Given the description of an element on the screen output the (x, y) to click on. 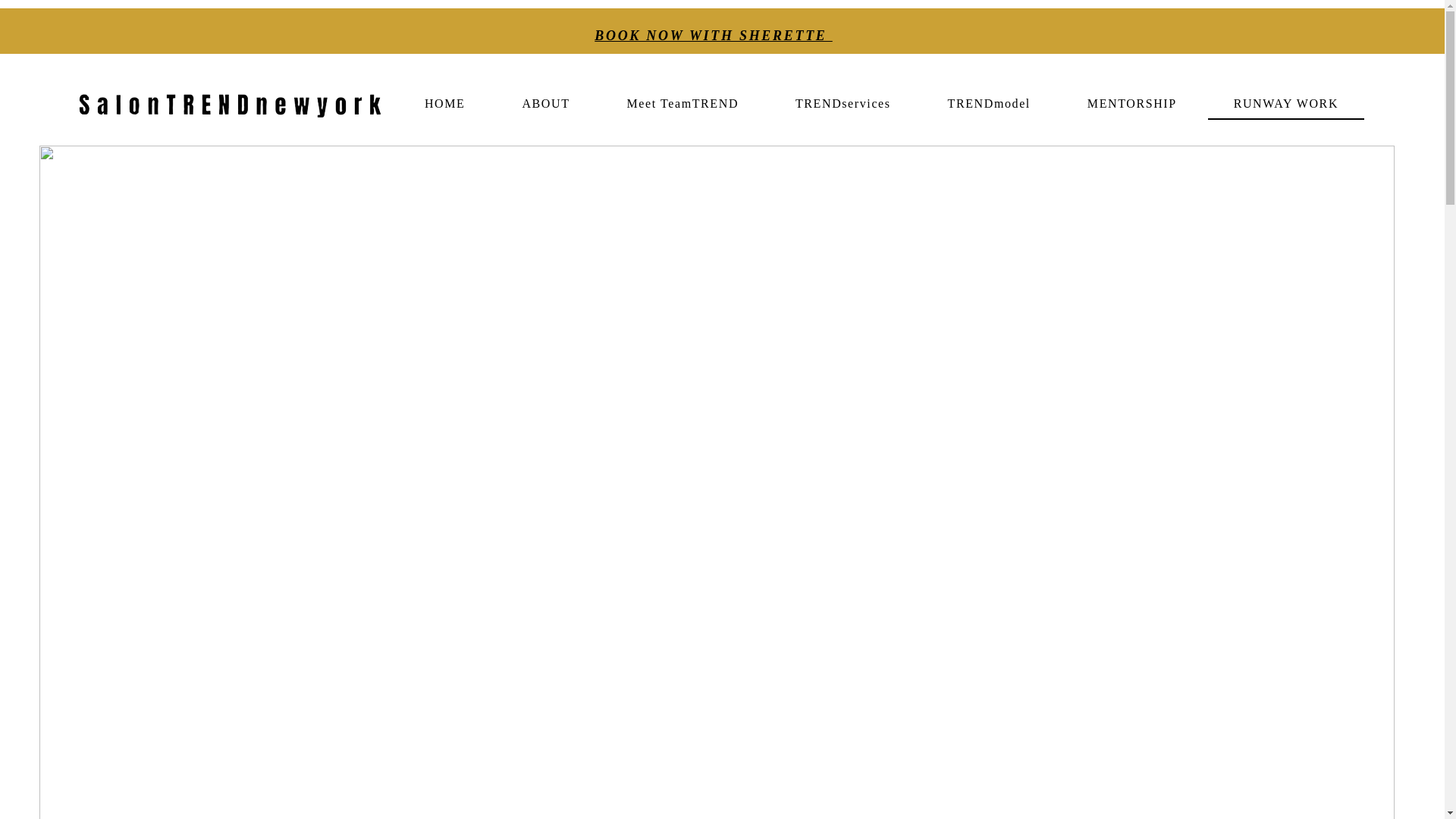
TRENDservices (843, 104)
MENTORSHIP (1131, 104)
ABOUT (545, 104)
HOME (443, 104)
BOOK NOW WITH SHERETTE  (713, 35)
TRENDmodel (988, 104)
RUNWAY WORK (1285, 104)
